Given the description of an element on the screen output the (x, y) to click on. 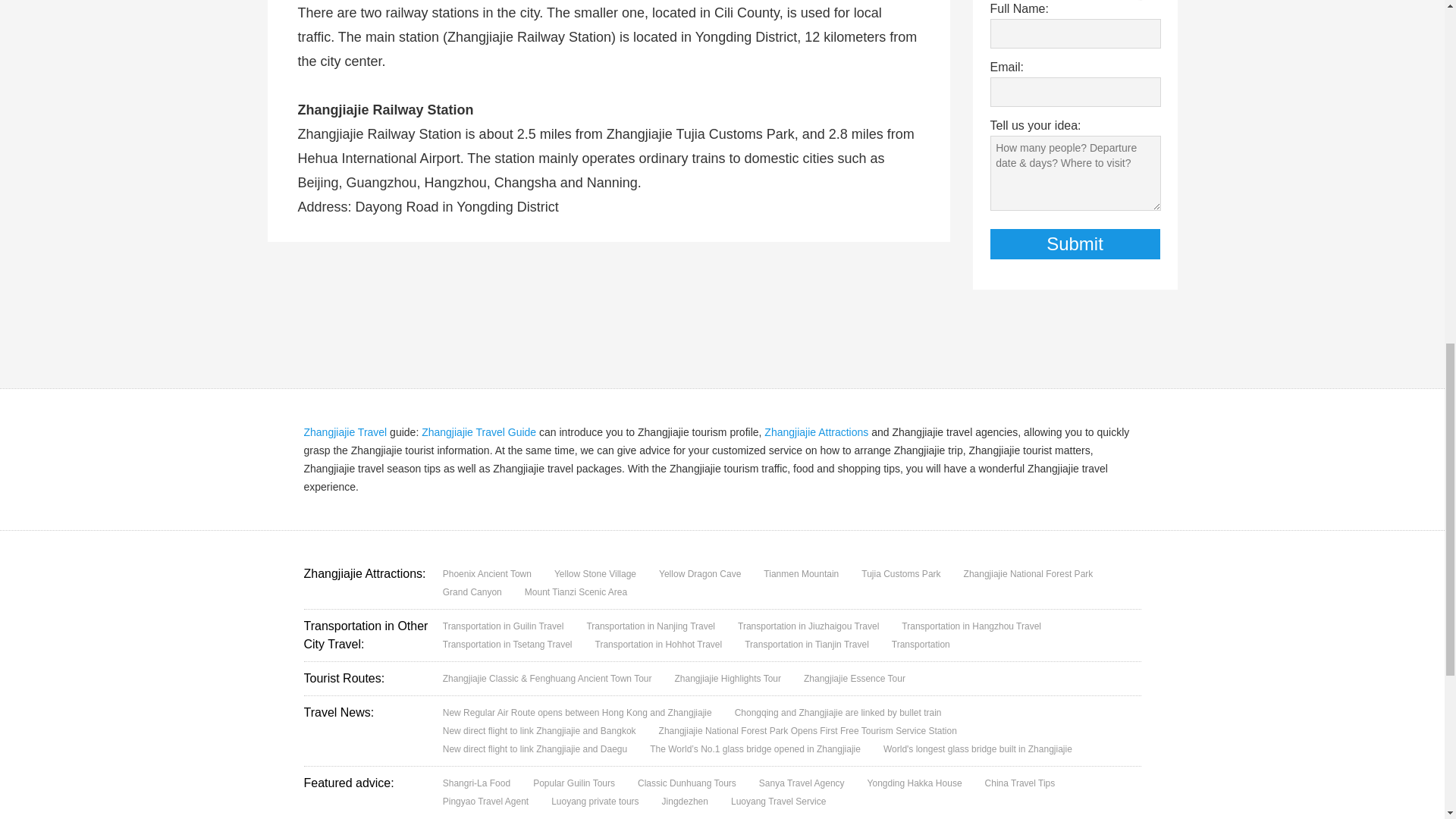
Submit (1075, 244)
Zhangjiajie Attractions (815, 431)
Zhangjiajie Travel Guide (478, 431)
Zhangjiajie Travel (344, 431)
